Given the description of an element on the screen output the (x, y) to click on. 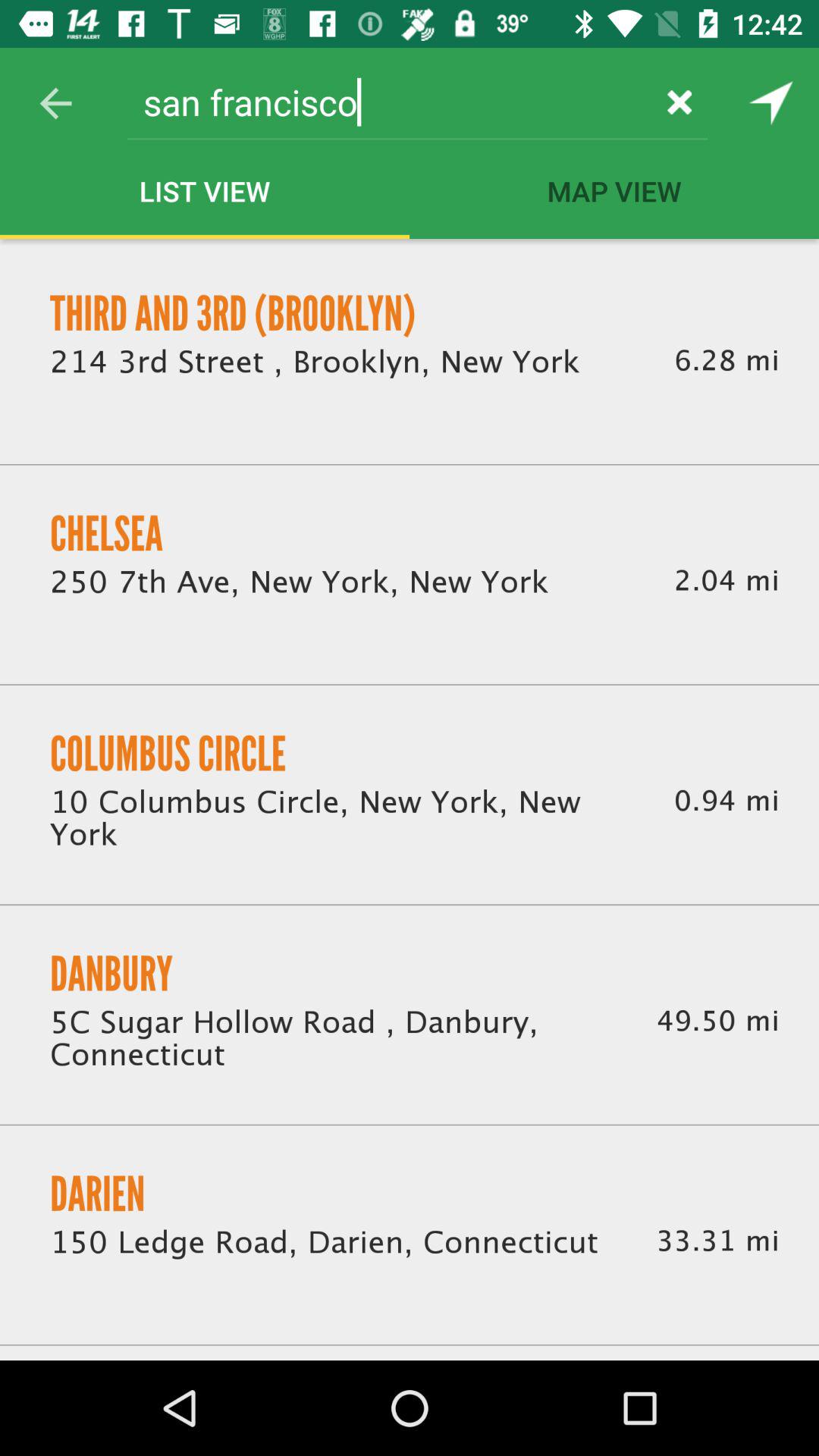
launch 250 7th ave icon (299, 582)
